Given the description of an element on the screen output the (x, y) to click on. 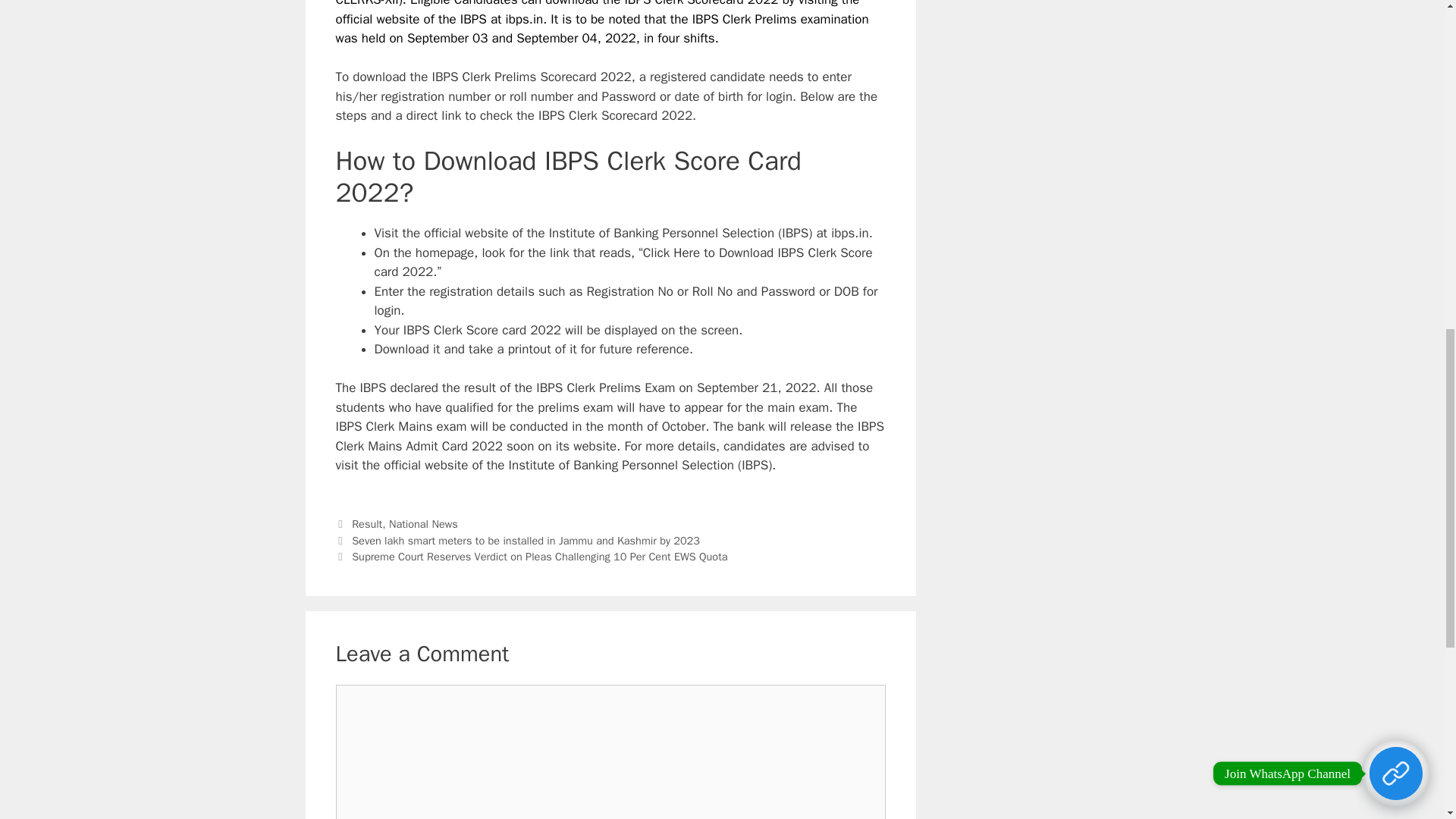
Result (366, 523)
National News (423, 523)
